Given the description of an element on the screen output the (x, y) to click on. 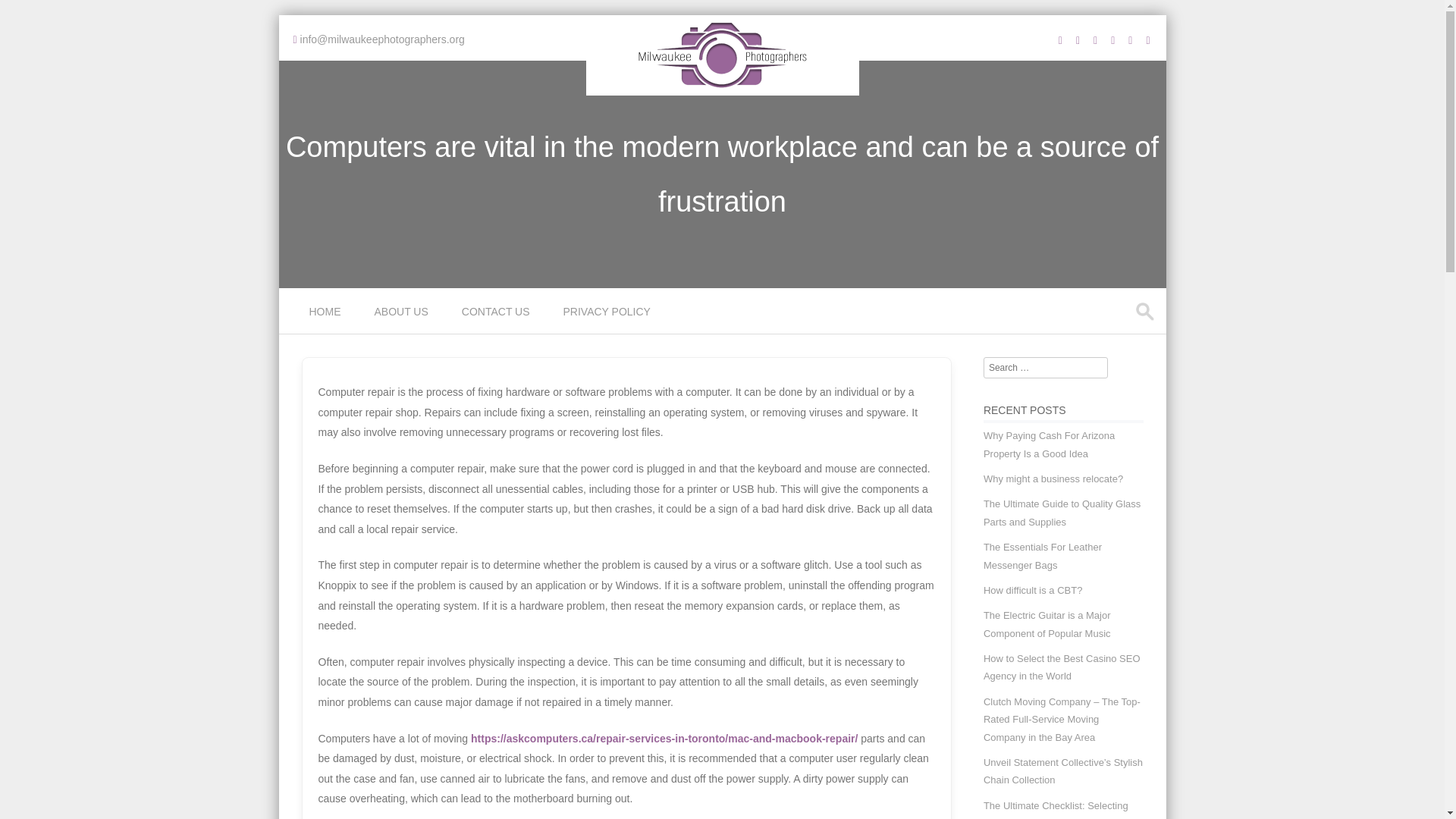
How to Select the Best Casino SEO Agency in the World (1062, 666)
Menu (305, 320)
Search (26, 14)
Milwaukee Photographers (722, 84)
Instagram (1060, 39)
ABOUT US (402, 310)
CONTACT US (497, 310)
Pinterest (1112, 39)
search (1145, 311)
Flickr (1095, 39)
How difficult is a CBT? (1033, 590)
The Ultimate Checklist: Selecting the Best Moving Company (1056, 809)
Why might a business relocate? (1053, 478)
HOME (326, 310)
Youtube (1077, 39)
